Given the description of an element on the screen output the (x, y) to click on. 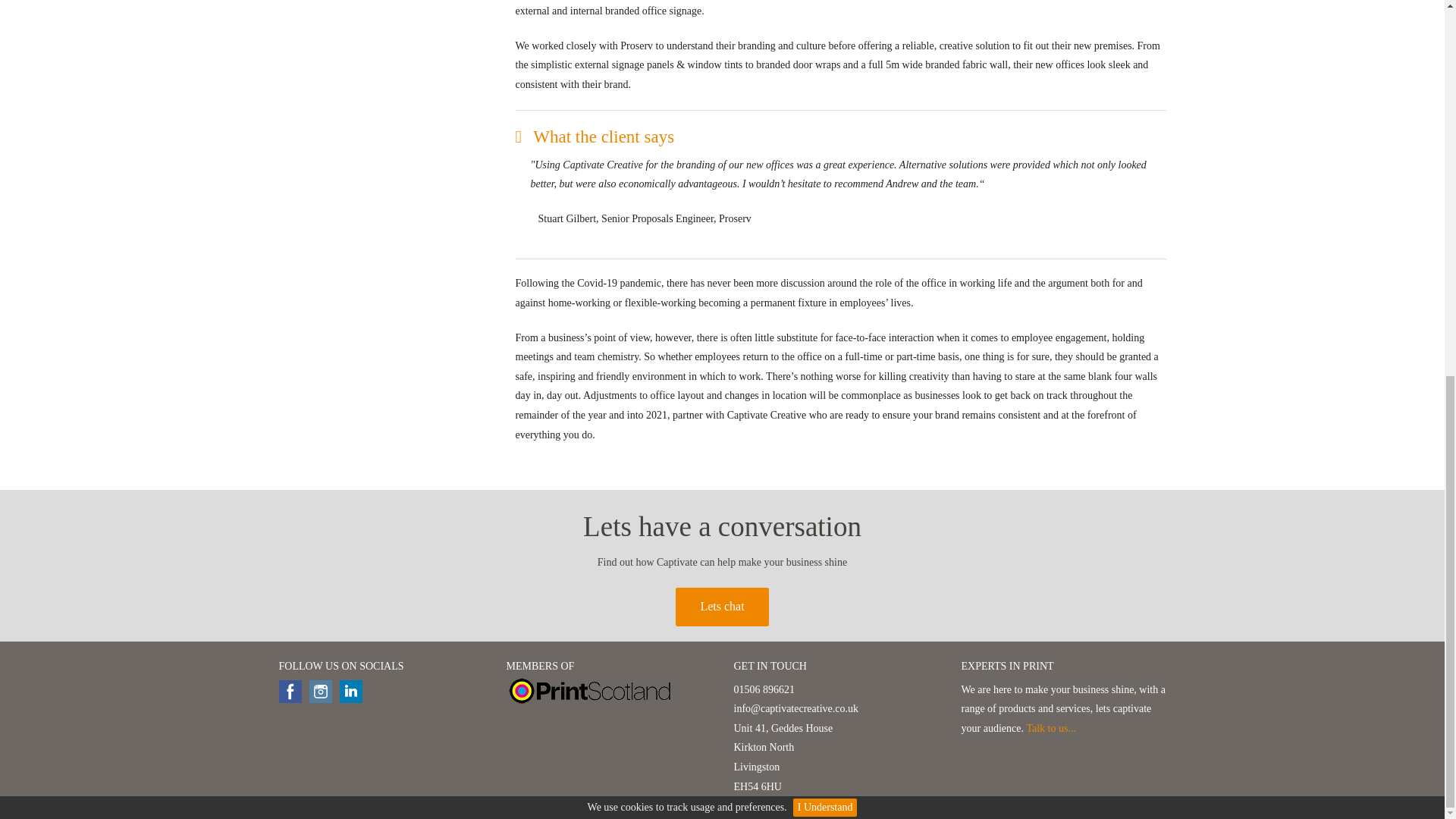
Facebook (290, 691)
Talk to us... (1050, 727)
Instagram (319, 691)
I Understand (825, 114)
Linkedin (350, 691)
Lets chat (721, 607)
